Given the description of an element on the screen output the (x, y) to click on. 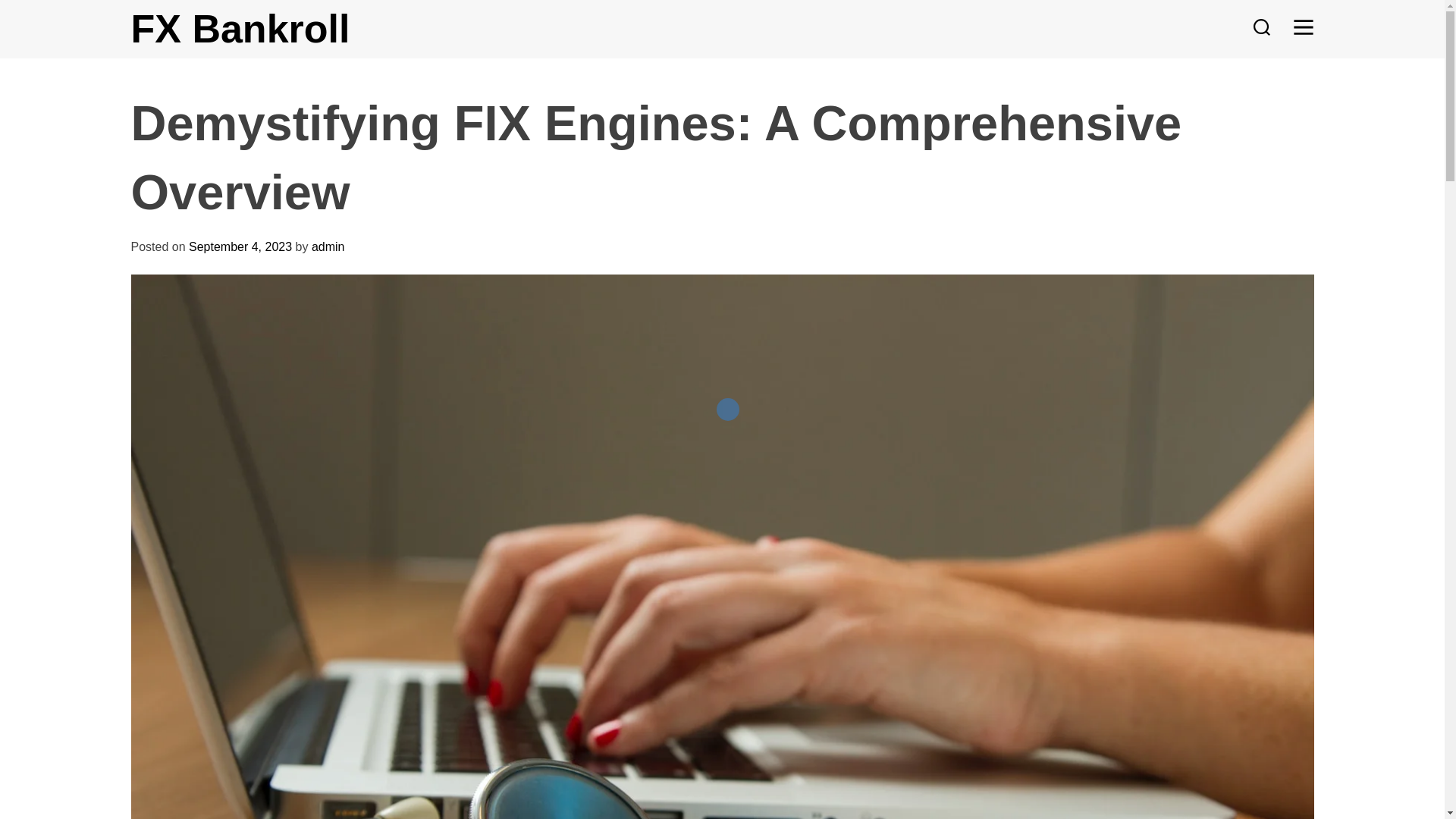
September 4, 2023 (240, 246)
FX Bankroll (240, 28)
admin (328, 246)
